Given the description of an element on the screen output the (x, y) to click on. 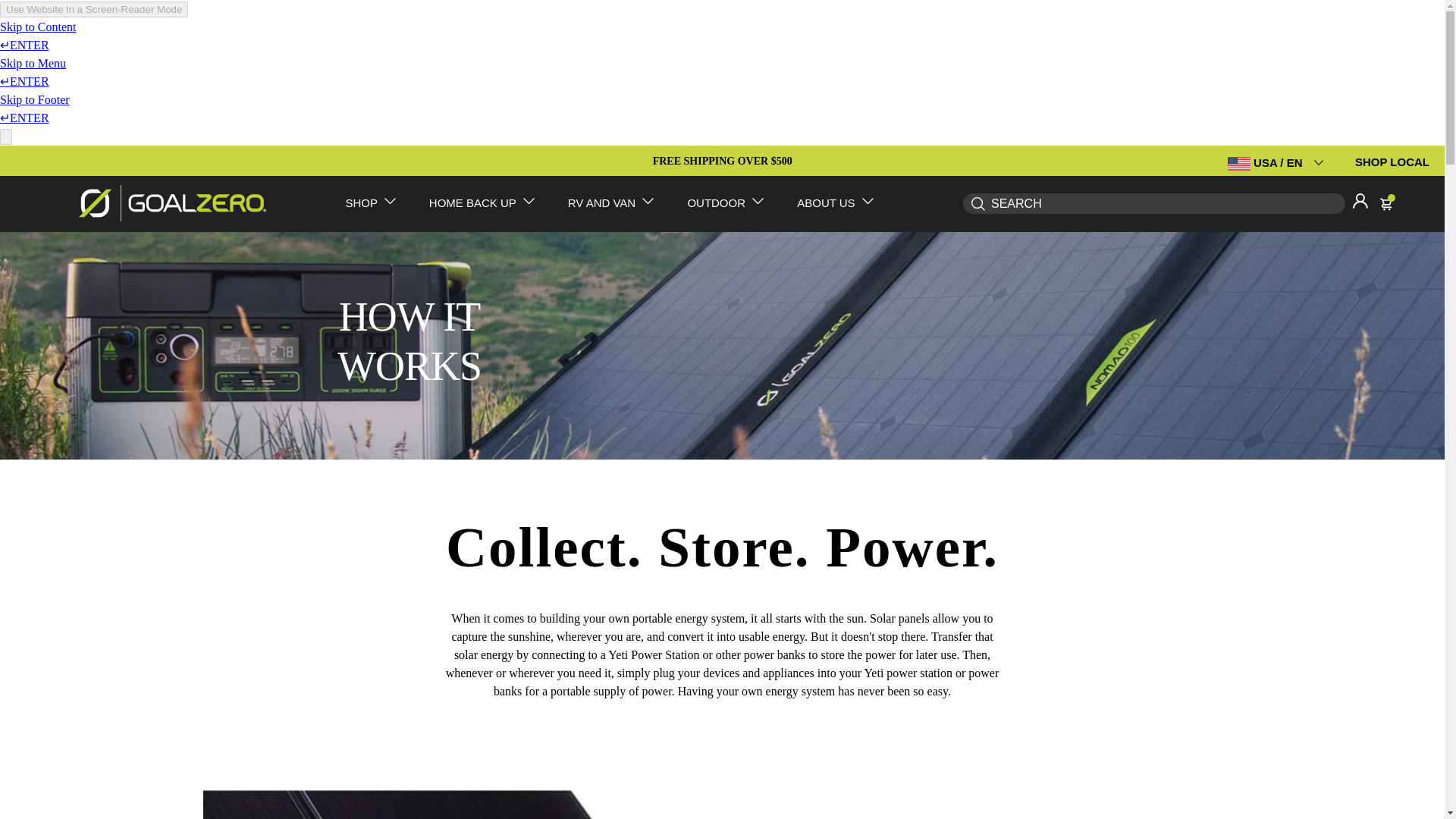
SHOP LOCAL (1392, 161)
